Given the description of an element on the screen output the (x, y) to click on. 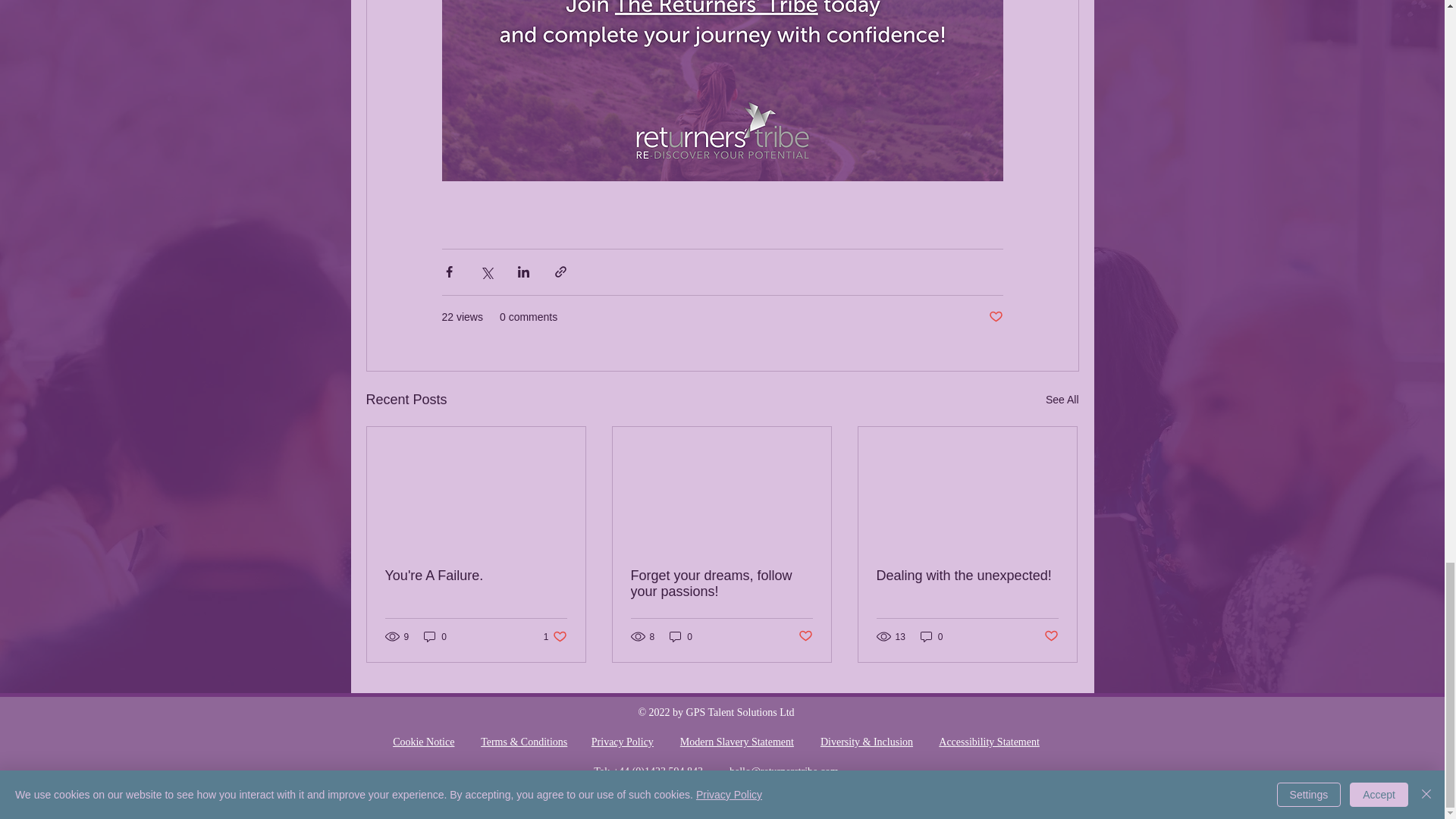
Post not marked as liked (804, 636)
Modern Slavery Statement (736, 741)
Privacy Policy (622, 741)
You're A Failure. (555, 636)
Post not marked as liked (476, 575)
Cookie Notice (1050, 636)
Forget your dreams, follow your passions! (423, 741)
Post not marked as liked (721, 583)
0 (995, 317)
